Given the description of an element on the screen output the (x, y) to click on. 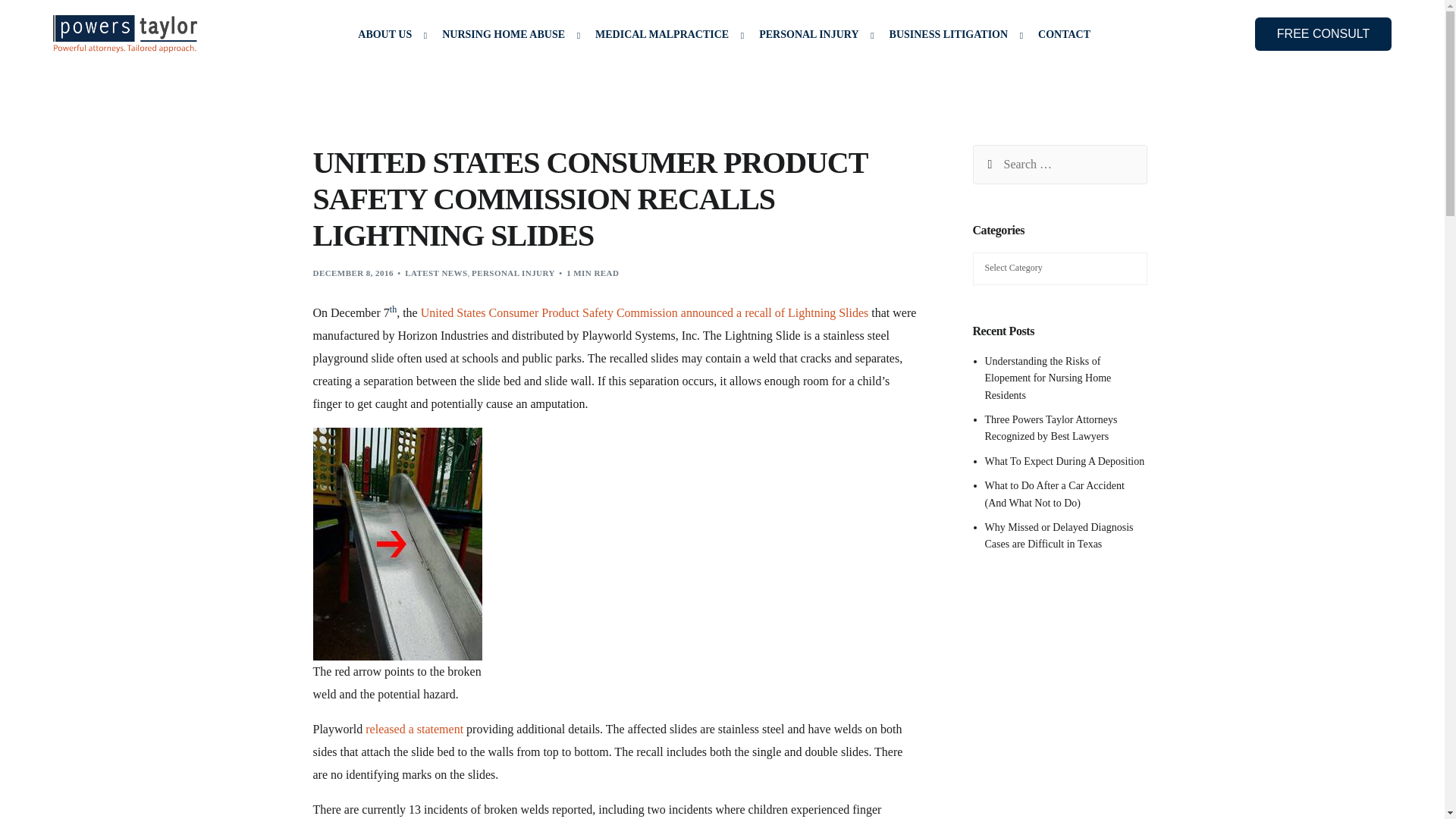
LATEST NEWS (435, 272)
ABOUT US (388, 34)
BUSINESS LITIGATION (952, 34)
CONTACT (1064, 34)
FREE CONSULT (1323, 33)
PERSONAL INJURY (812, 34)
NURSING HOME ABUSE (506, 34)
MEDICAL MALPRACTICE (665, 34)
